Given the description of an element on the screen output the (x, y) to click on. 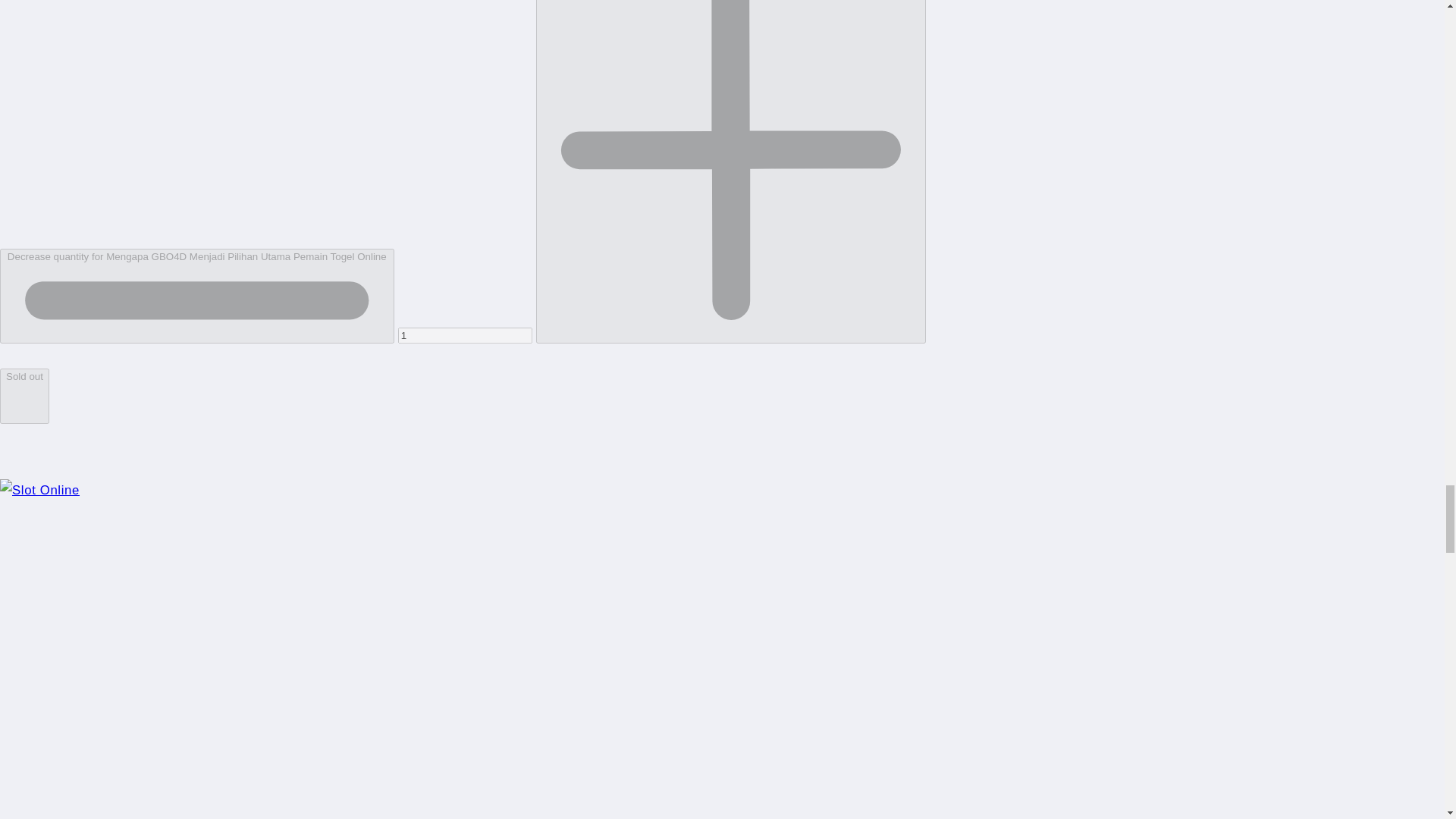
Sold out (24, 396)
1 (464, 335)
